Given the description of an element on the screen output the (x, y) to click on. 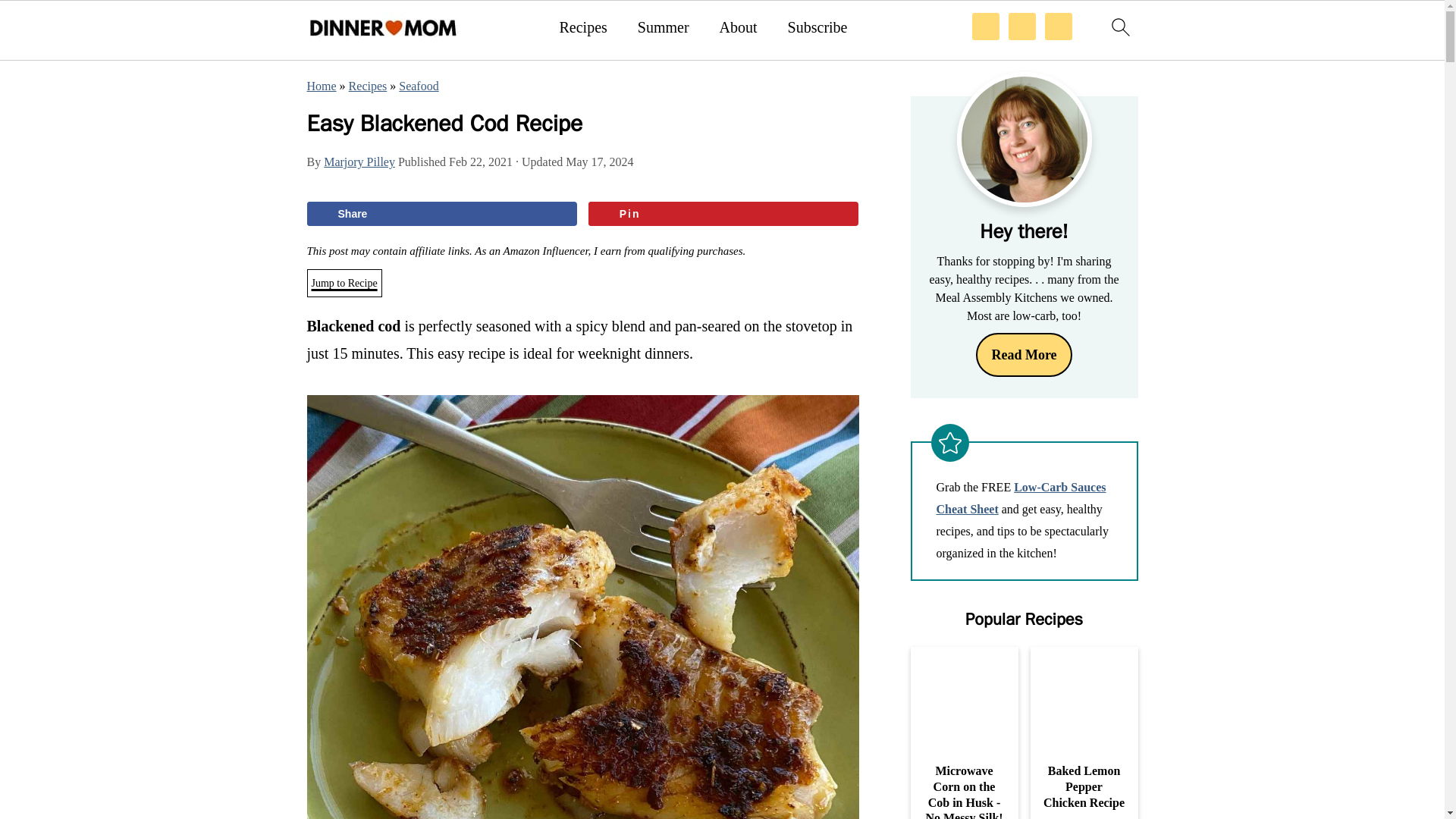
Recipes (583, 27)
About (738, 27)
Subscribe (817, 27)
Recipes (368, 85)
Marjory Pilley (358, 161)
Save to Pinterest (723, 213)
Share on Facebook (440, 213)
Summer (662, 27)
search icon (1119, 26)
Seafood (418, 85)
Home (320, 85)
